Given the description of an element on the screen output the (x, y) to click on. 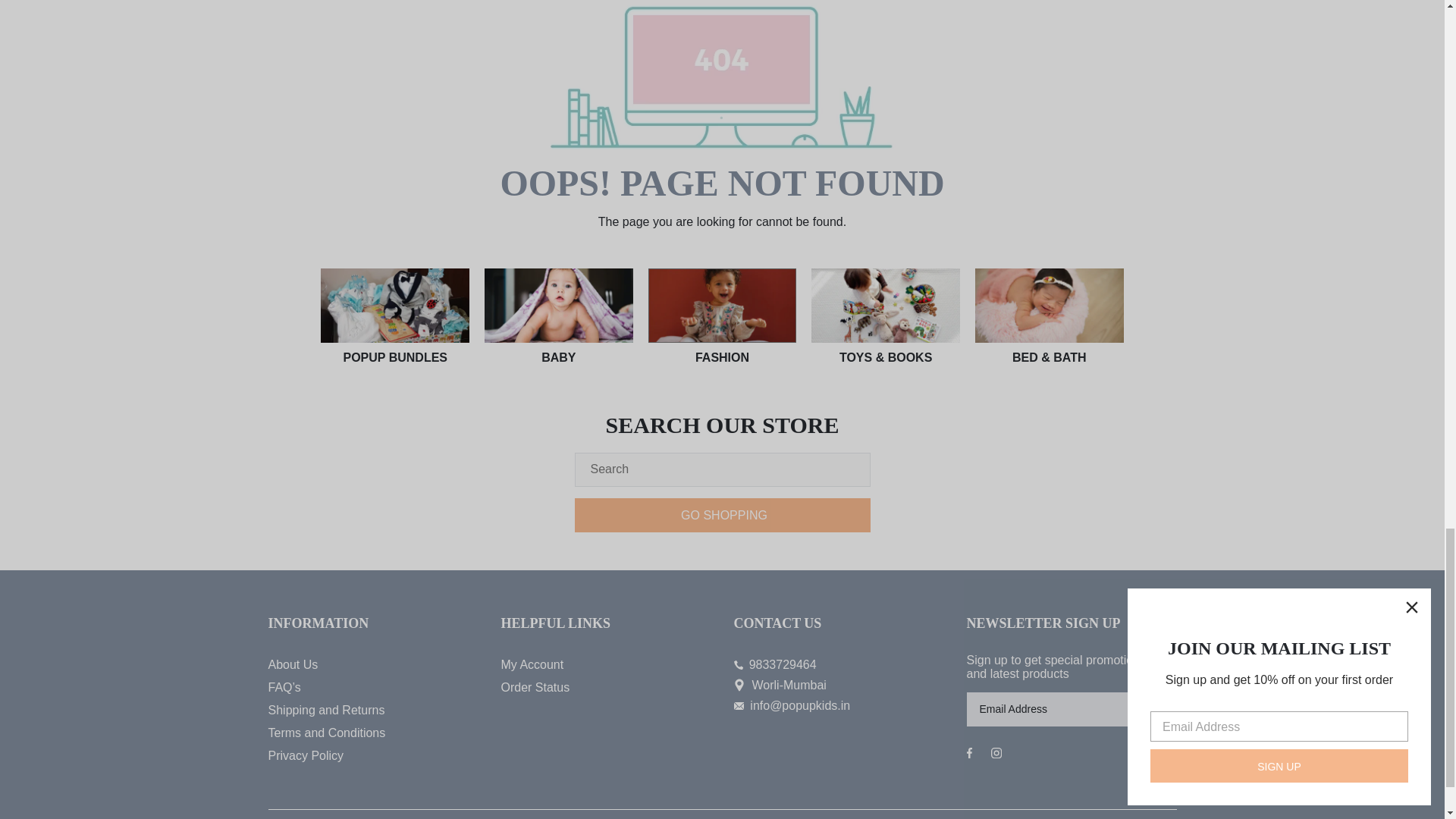
About Us (373, 664)
9833729464 (838, 664)
My Account (605, 664)
Sign up (1152, 709)
 Shipping and Returns (373, 710)
Privacy Policy (373, 755)
Terms and Conditions (373, 732)
Order Status (605, 687)
